Given the description of an element on the screen output the (x, y) to click on. 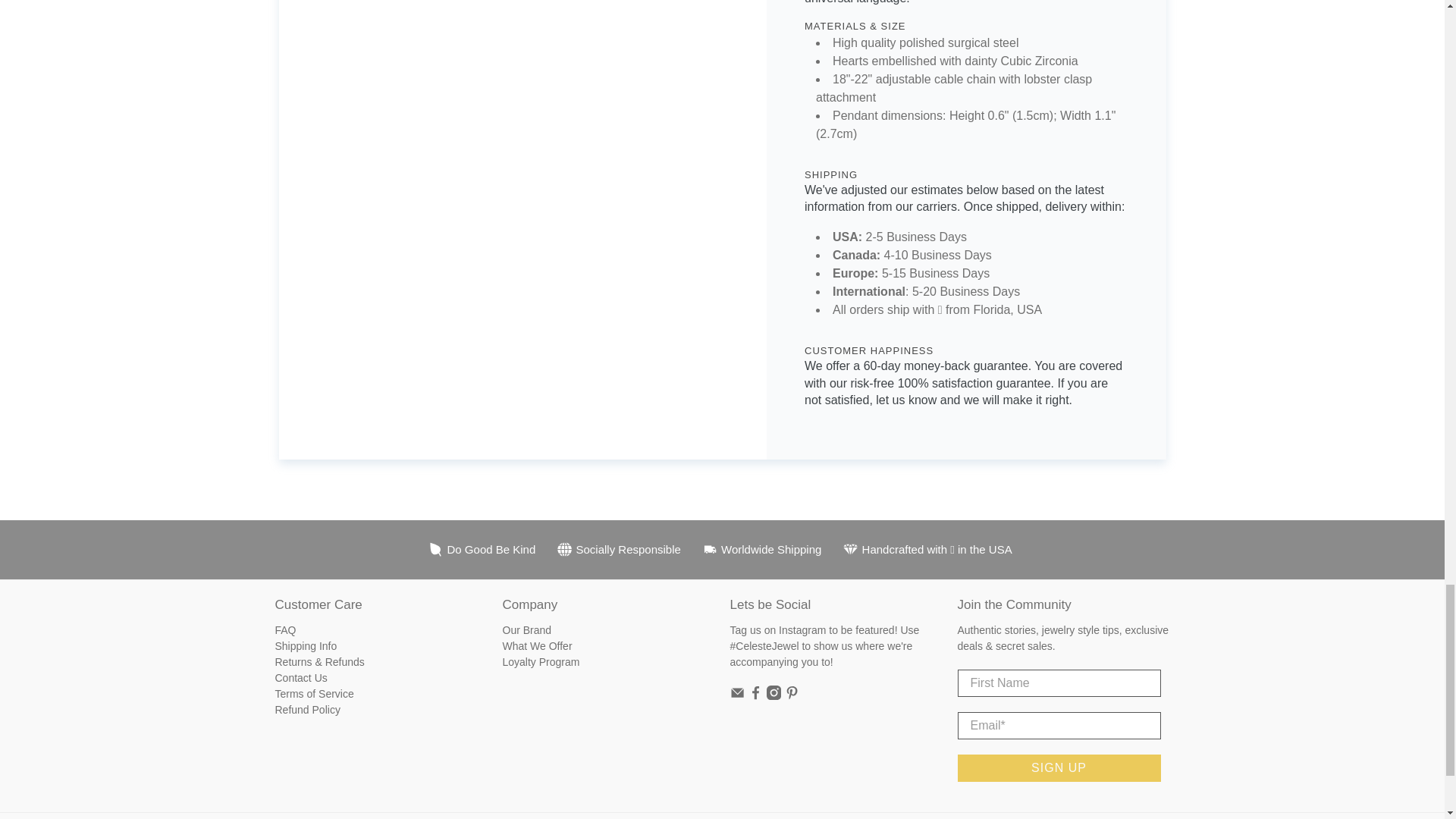
Celeste Jewel on Pinterest (791, 695)
Celeste Jewel on Instagram (773, 695)
Celeste Jewel on Facebook (755, 695)
Email Celeste Jewel (736, 695)
